Given the description of an element on the screen output the (x, y) to click on. 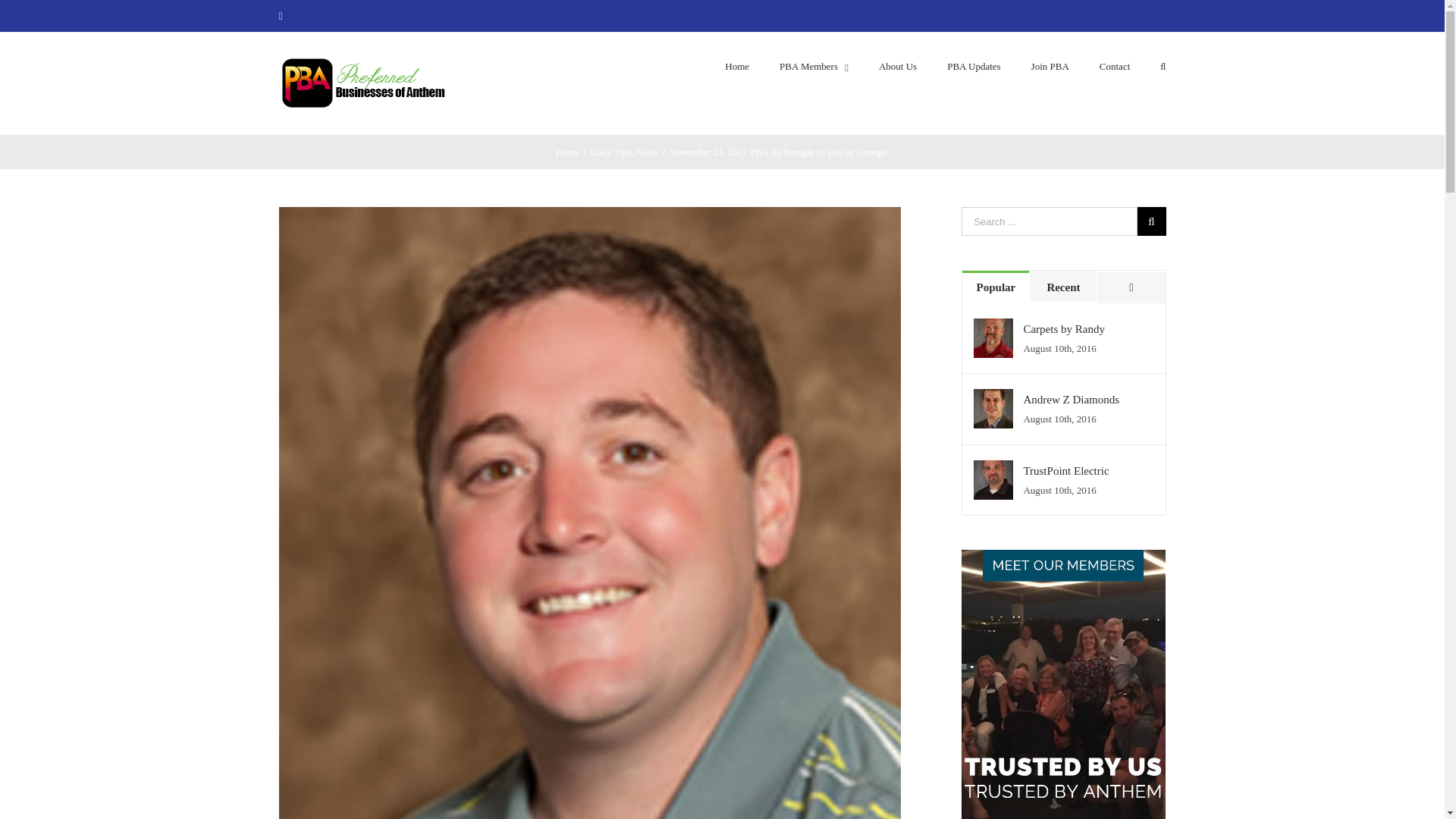
Daily Tips (610, 152)
PBA Members (813, 64)
News (647, 152)
Home (567, 152)
